Given the description of an element on the screen output the (x, y) to click on. 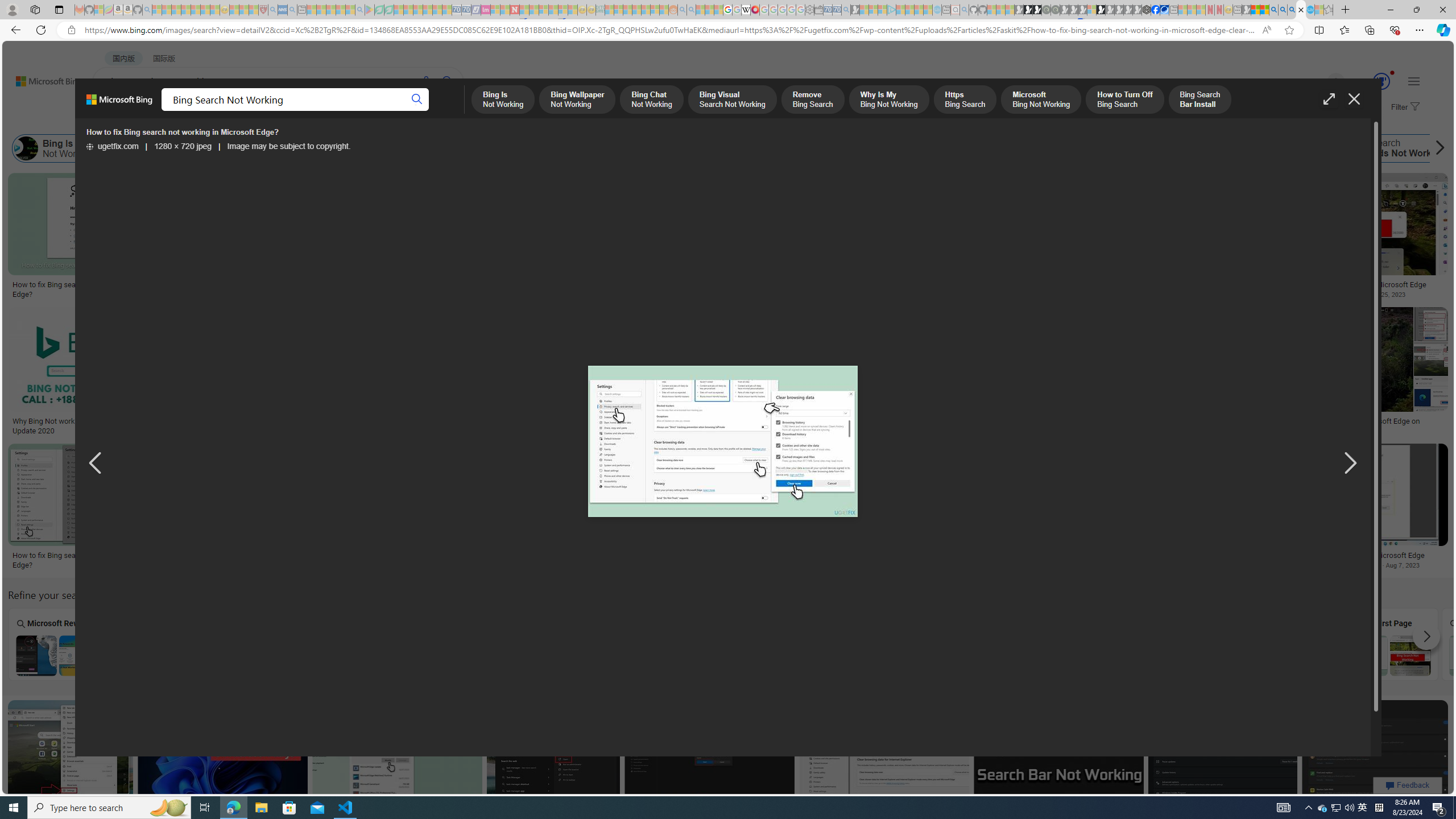
MediaWiki (754, 9)
ugetfix.com (111, 146)
Expert Portfolios - Sleeping (636, 9)
Why Bing Not working on windows 10? Update 2020 (77, 425)
MY BING (156, 111)
Bing Search Bar Not Working Bar (1081, 643)
Bing Search Not Working On My Tablet (160, 655)
Back to Bing search (41, 78)
Bing Chat Not Working (268, 148)
Bing Is Not Working (58, 148)
Fix Bing Search Not Working in Microsoft Edge (6 Easy Ways) (470, 289)
Latest Politics News & Archive | Newsweek.com - Sleeping (514, 9)
Tablet (364, 643)
